Given the description of an element on the screen output the (x, y) to click on. 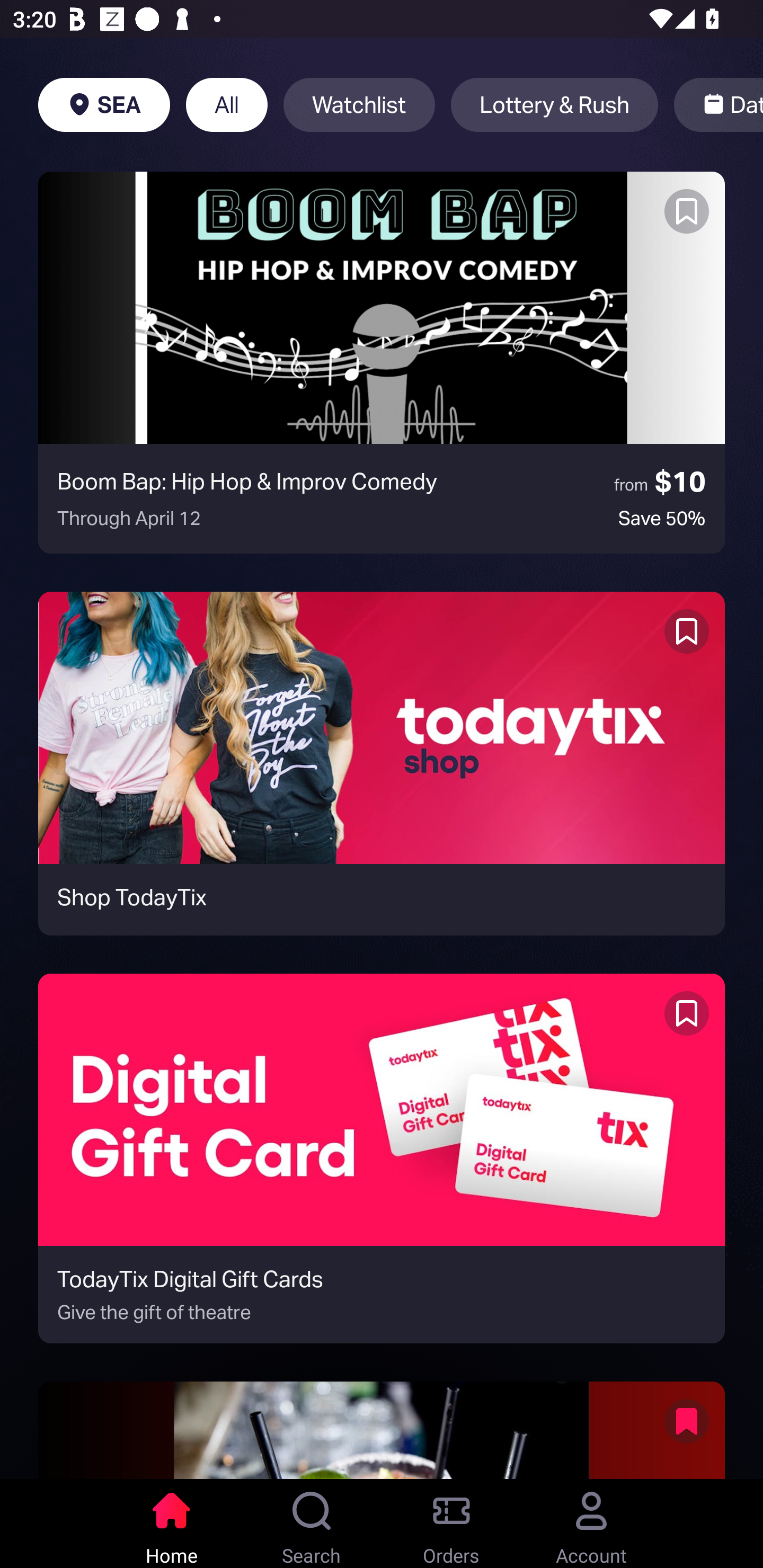
SEA (104, 104)
All (226, 104)
Watchlist (358, 104)
Lottery & Rush (553, 104)
Shop TodayTix (381, 763)
Search (311, 1523)
Orders (451, 1523)
Account (591, 1523)
